Given the description of an element on the screen output the (x, y) to click on. 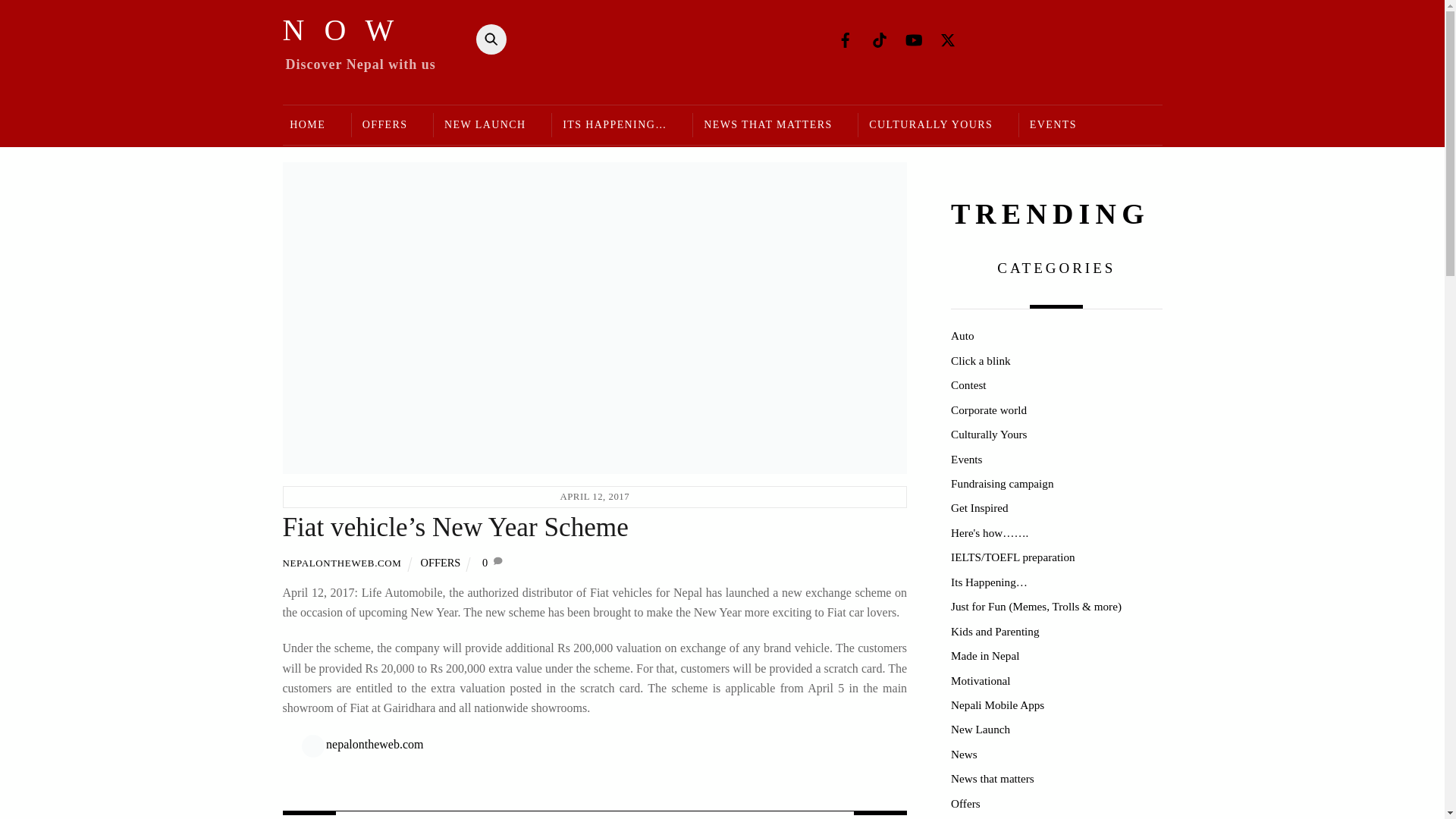
Events (965, 458)
OFFERS (384, 125)
N O W (340, 29)
Search (486, 39)
Auto (962, 335)
nepalontheweb.com (374, 744)
EVENTS (1052, 125)
N O W (340, 29)
NEW LAUNCH (483, 125)
Click a blink (980, 359)
Contest (967, 384)
CULTURALLY YOURS (930, 125)
Corporate world (988, 409)
nepalontheweb.com (374, 744)
NEWS THAT MATTERS (768, 125)
